Given the description of an element on the screen output the (x, y) to click on. 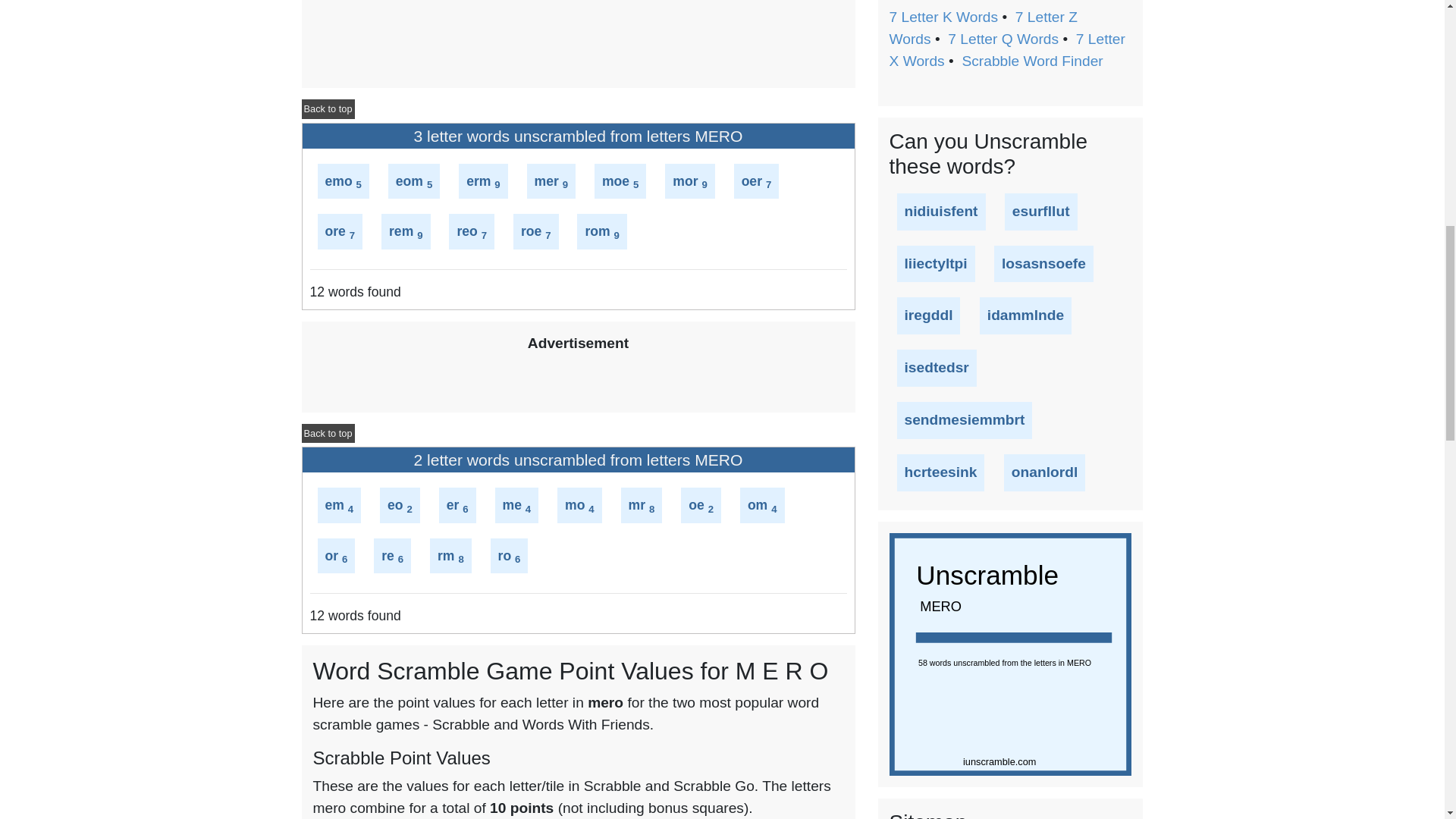
unscramble rem (400, 230)
mor (684, 180)
me (511, 505)
Advertisement (578, 29)
unscramble ore (334, 230)
moe (615, 180)
unscramble moe (615, 180)
mo (574, 505)
mer (546, 180)
rem (400, 230)
